Given the description of an element on the screen output the (x, y) to click on. 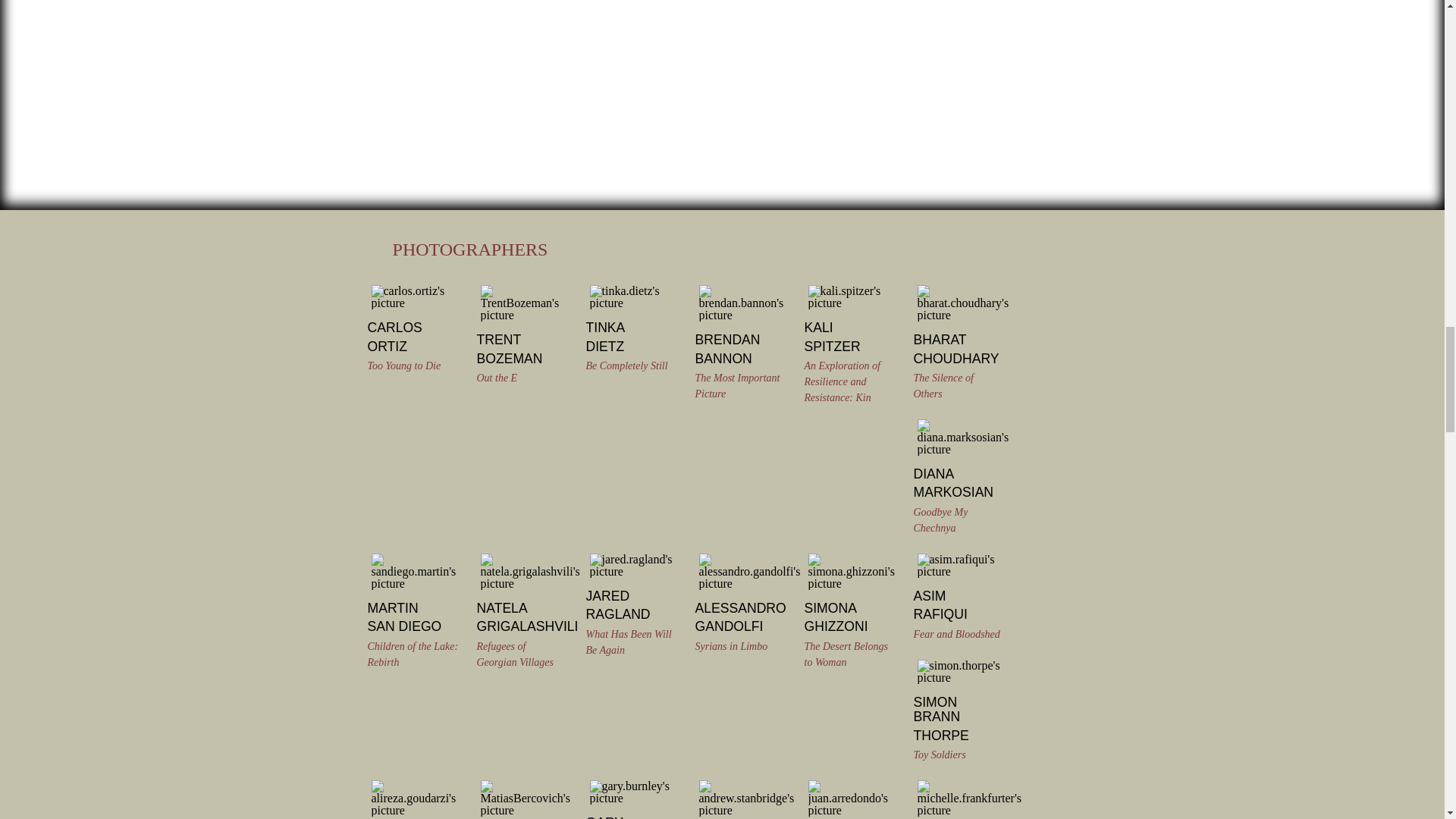
Too Young to Die (403, 365)
Out the E (496, 378)
Be Completely Still (625, 365)
The Most Important Picture (736, 385)
